Given the description of an element on the screen output the (x, y) to click on. 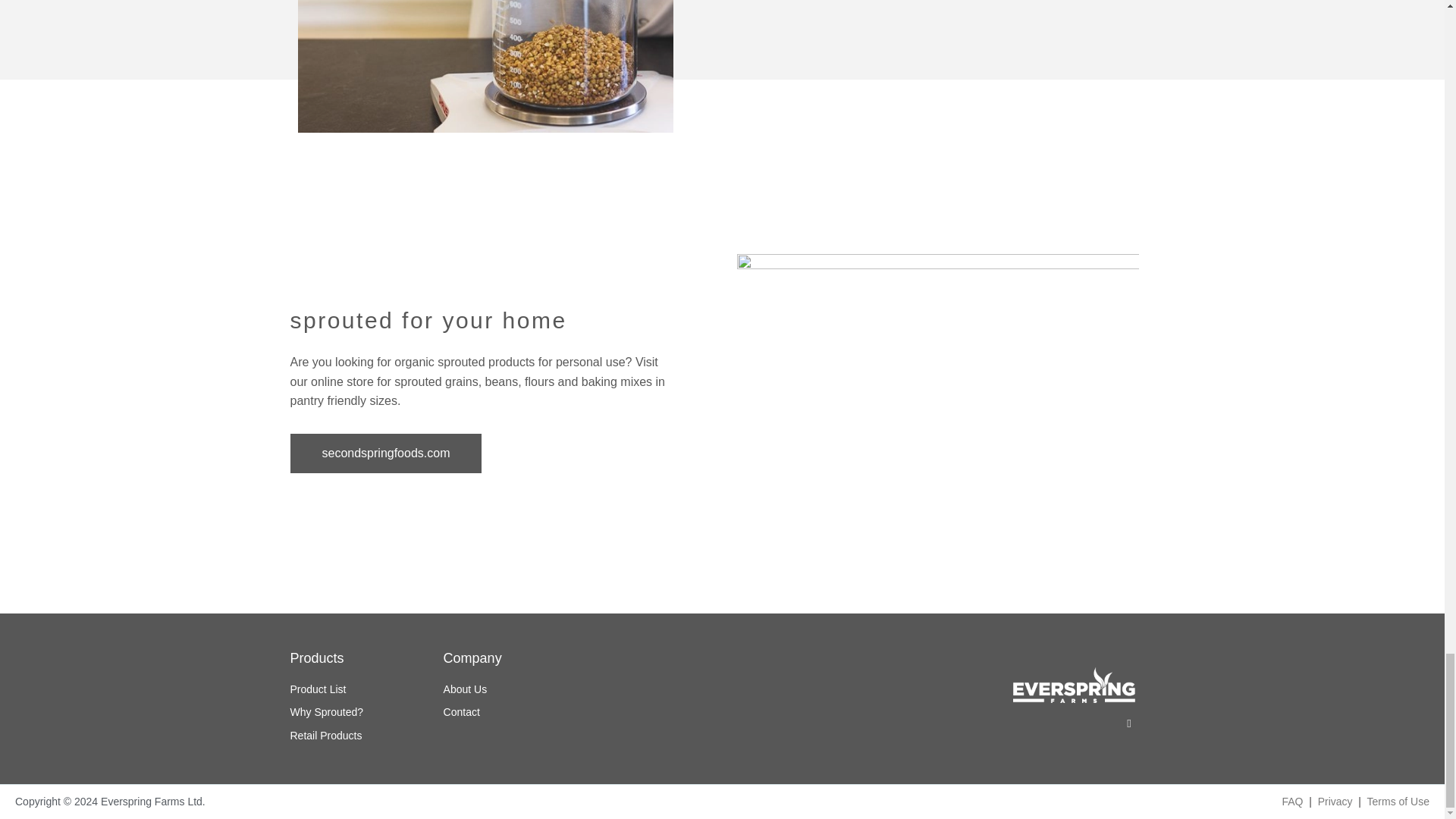
Product List (365, 690)
FAQ (1292, 801)
secondspringfoods.com (385, 453)
About Us (529, 690)
Retail Products (365, 736)
Contact (529, 712)
Why Sprouted? (365, 712)
Terms of Use (1398, 801)
Privacy (1334, 801)
